Given the description of an element on the screen output the (x, y) to click on. 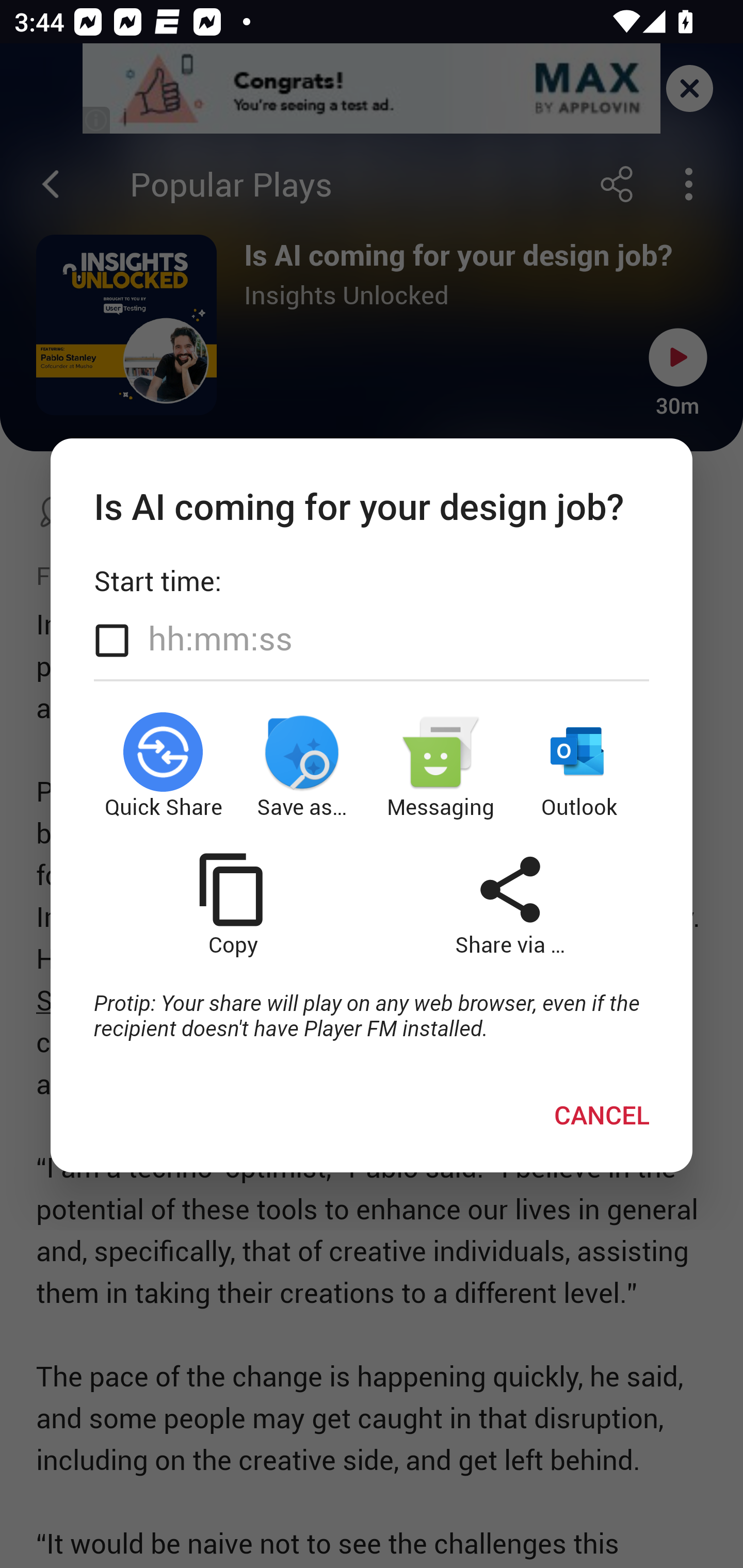
hh:mm:ss (220, 637)
Quick Share (163, 765)
Save as… (301, 765)
Messaging (440, 765)
Outlook (579, 765)
Copy (232, 904)
Share via … (509, 904)
CANCEL (600, 1113)
